Given the description of an element on the screen output the (x, y) to click on. 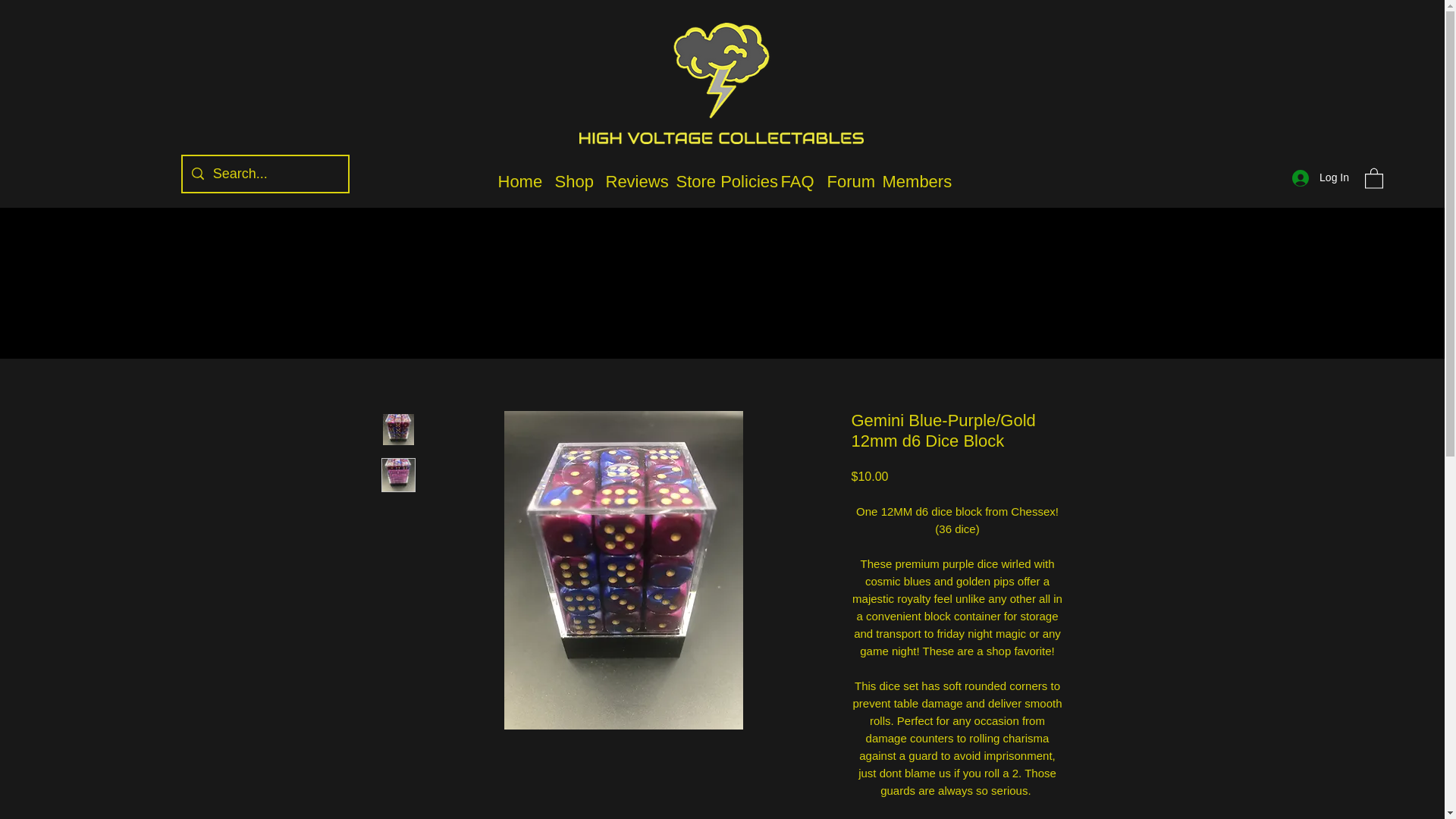
Members (914, 181)
FAQ (796, 181)
Store Policies (720, 181)
Reviews (632, 181)
Forum (846, 181)
Shop (572, 181)
Home (518, 181)
Log In (1320, 177)
